Given the description of an element on the screen output the (x, y) to click on. 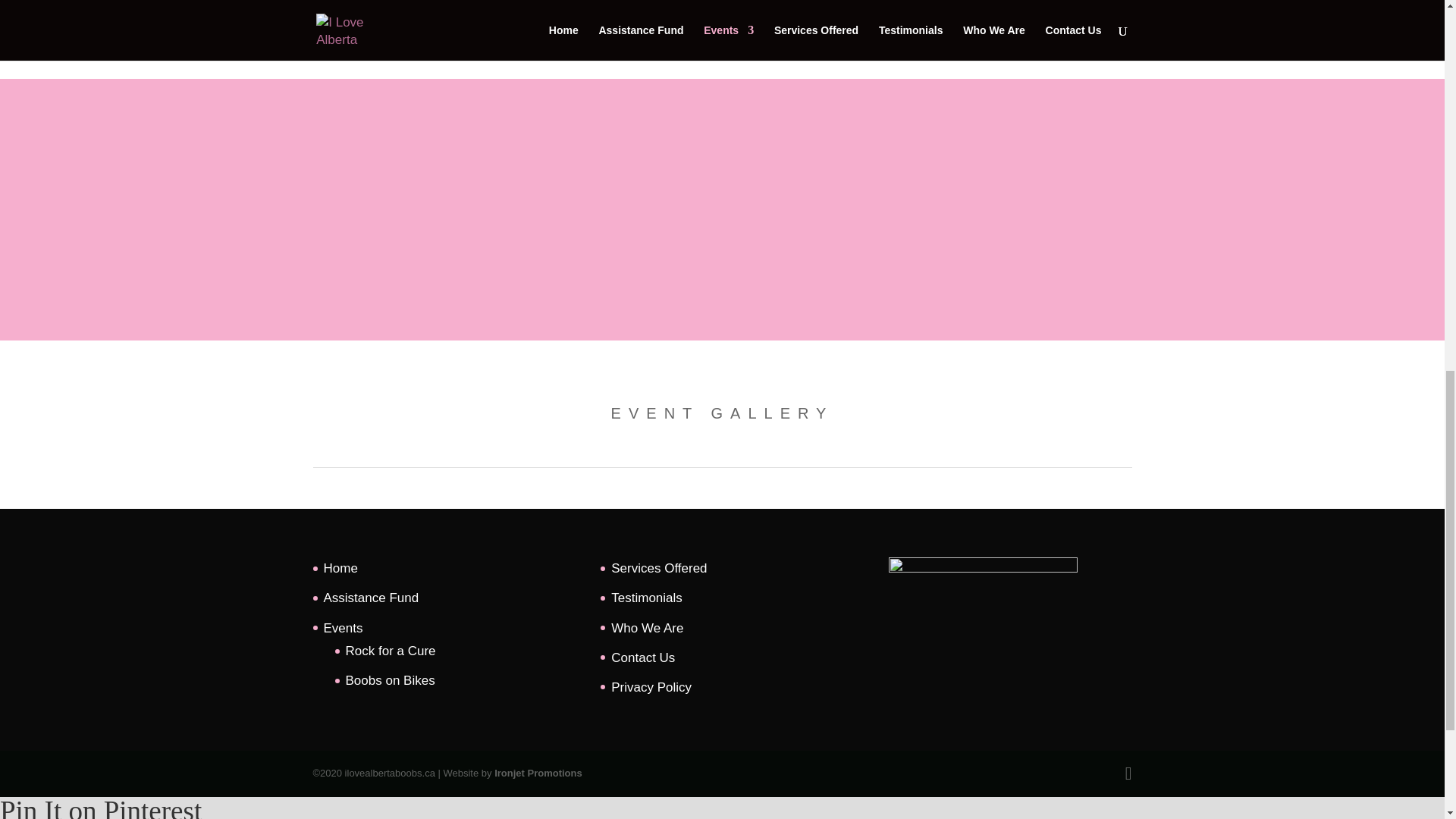
Ironjet Promotions (538, 772)
Contact Us (643, 657)
Testimonials (646, 597)
Services Offered (658, 568)
Boobs on Bikes (390, 680)
Home (339, 568)
Events (342, 627)
Who We Are (646, 627)
Privacy Policy (651, 687)
Rock for a Cure (390, 650)
Assistance Fund (371, 597)
